Given the description of an element on the screen output the (x, y) to click on. 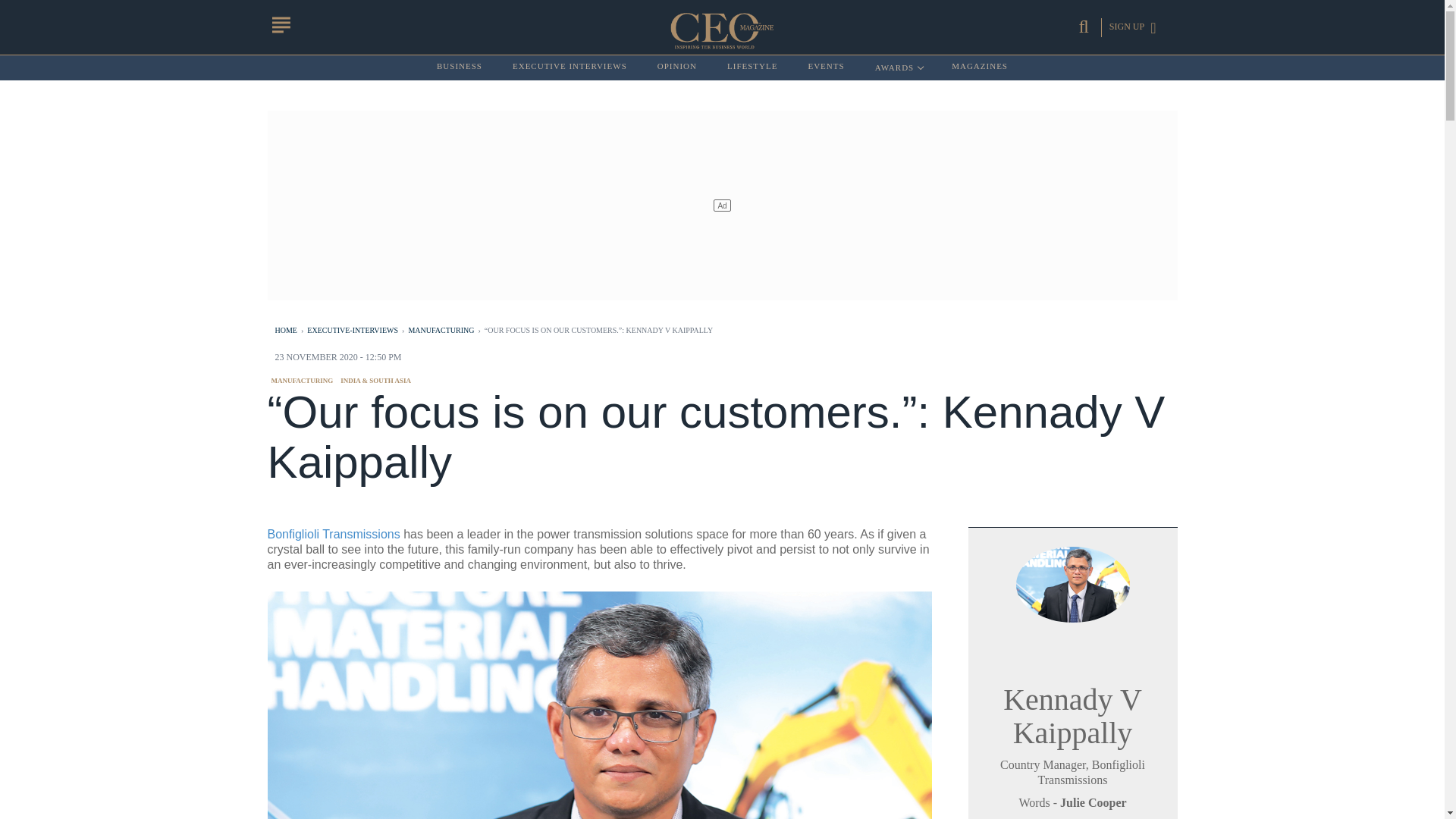
EVENTS (826, 66)
OPINION (898, 67)
Manufacturing (677, 66)
LIFESTYLE (301, 380)
MAGAZINES (751, 66)
Opinion (979, 66)
Executive Interviews (677, 66)
EXECUTIVE INTERVIEWS (569, 66)
Skip to content (569, 66)
